Given the description of an element on the screen output the (x, y) to click on. 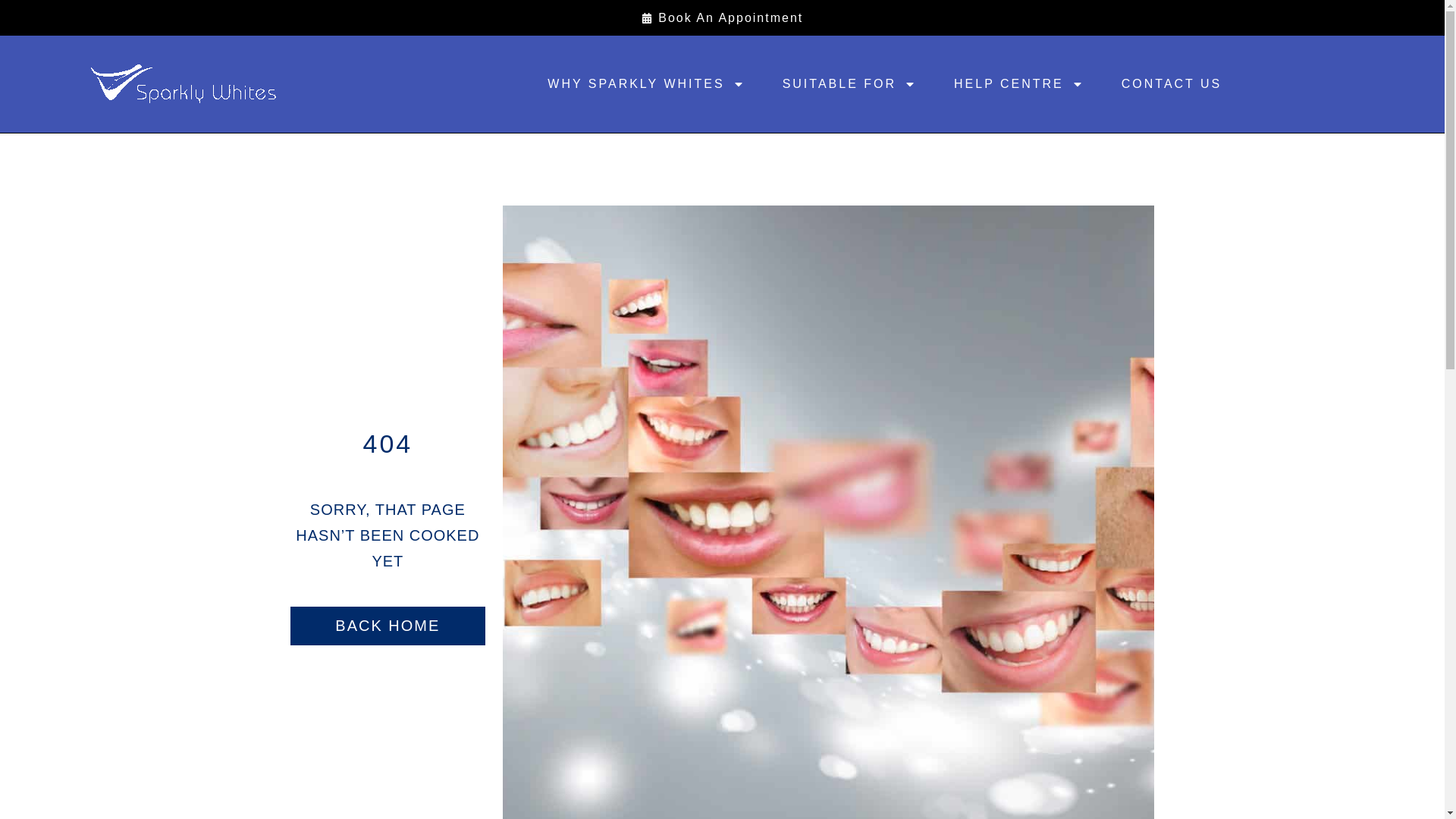
HELP CENTRE (1018, 83)
Book An Appointment (722, 17)
WHY SPARKLY WHITES (645, 83)
CONTACT US (1172, 83)
BACK HOME (386, 625)
SUITABLE FOR (849, 83)
